Given the description of an element on the screen output the (x, y) to click on. 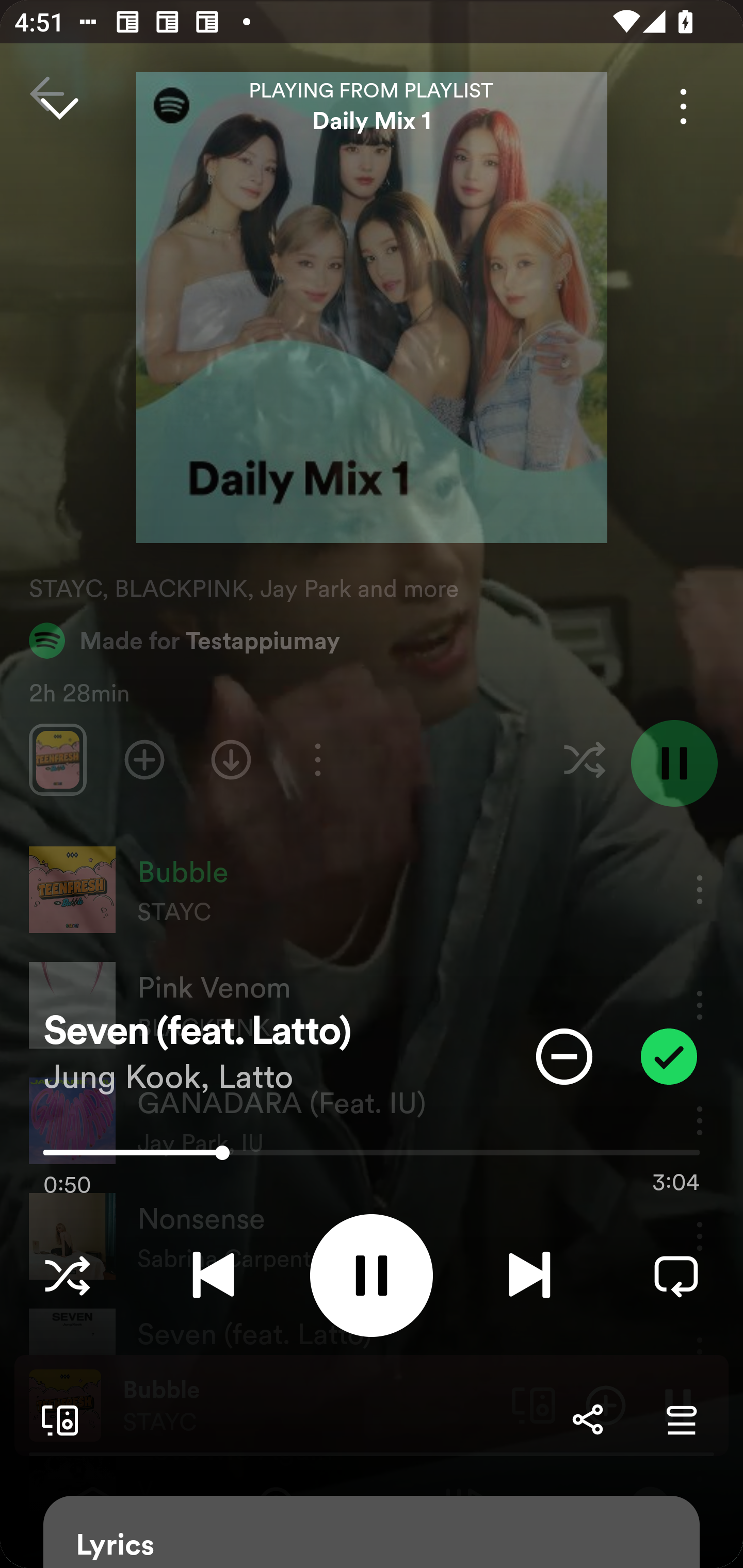
Close (59, 106)
More options for song Seven (feat. Latto) (683, 106)
PLAYING FROM PLAYLIST Daily Mix 1 (371, 106)
Don't play this (564, 1056)
Item added (669, 1056)
0:49 3:04 49991.0 Use volume keys to adjust (371, 1157)
Pause (371, 1275)
Previous (212, 1275)
Next (529, 1275)
Shuffle tracks (66, 1275)
Repeat (676, 1275)
Share (587, 1419)
Go to Queue (681, 1419)
Connect to a device. Opens the devices menu (55, 1419)
Lyrics (371, 1531)
